Given the description of an element on the screen output the (x, y) to click on. 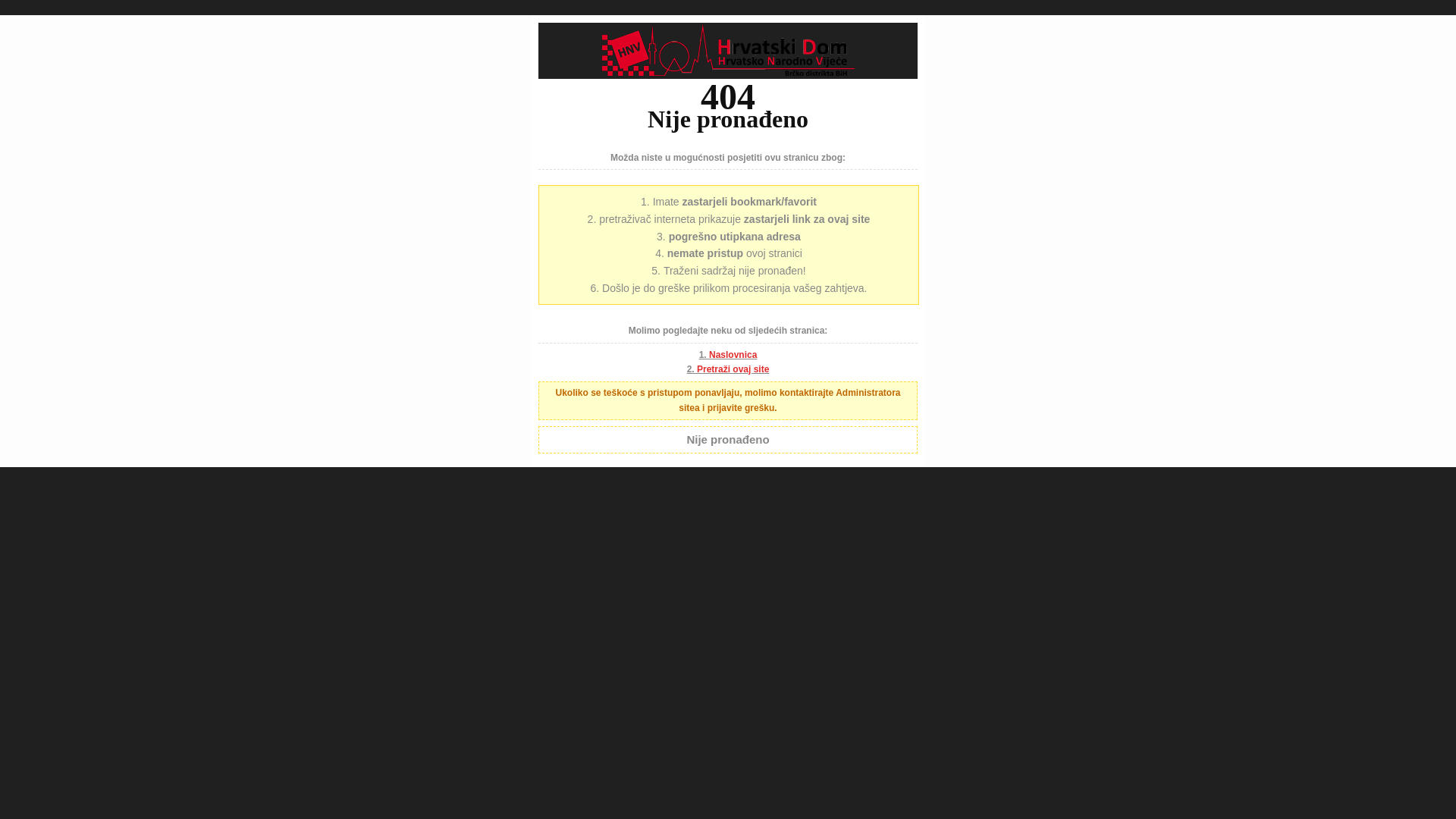
Naslovnica Element type: text (732, 354)
